Given the description of an element on the screen output the (x, y) to click on. 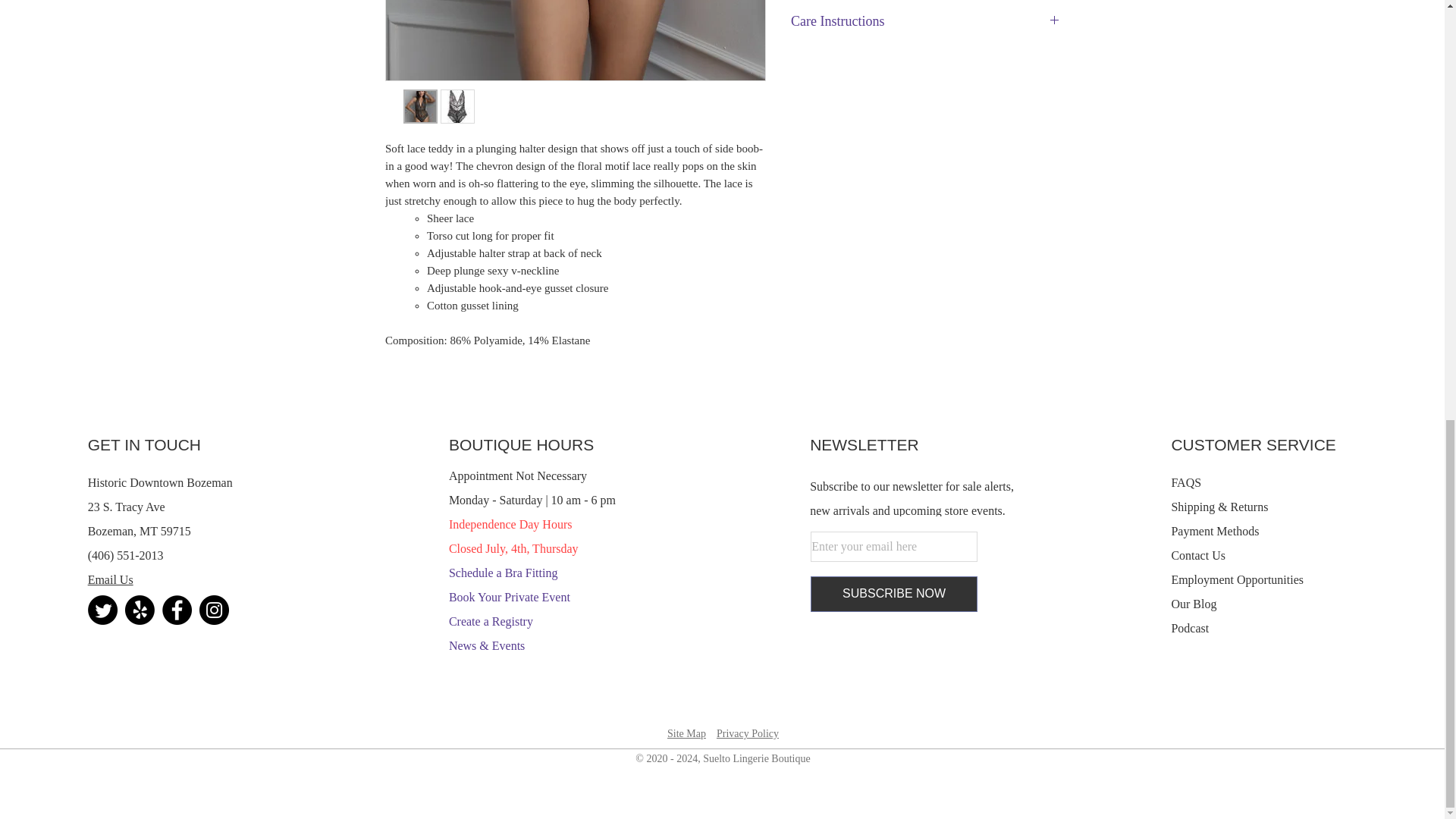
Create a Registry (490, 621)
Schedule a Bra Fitting (502, 572)
Care Instructions (924, 21)
Email Us (110, 579)
Book Your Private Event (509, 596)
Bozeman, MT 59715 (138, 530)
23 S. Tracy Ave (126, 506)
